Given the description of an element on the screen output the (x, y) to click on. 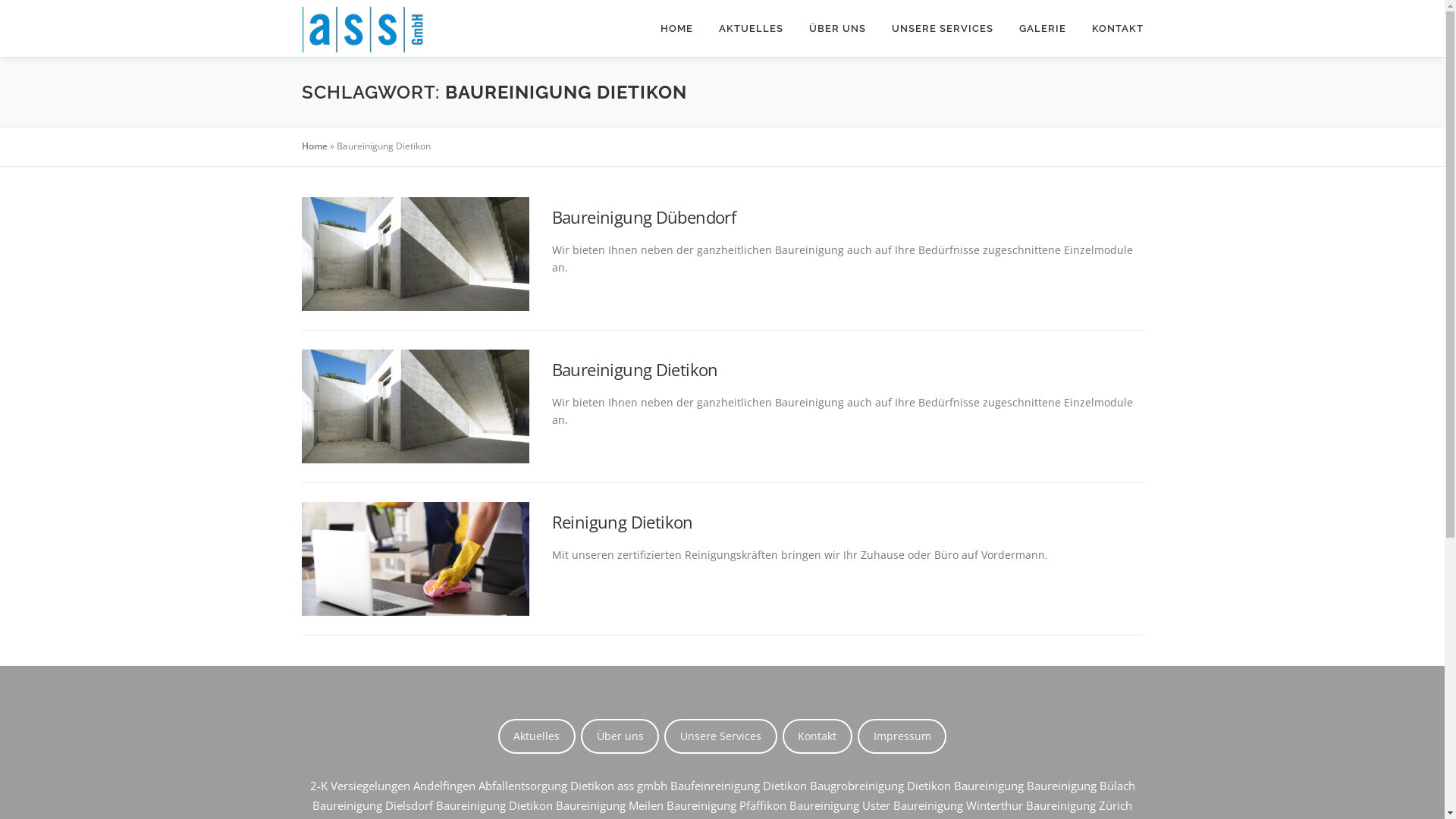
UNSERE SERVICES Element type: text (941, 28)
Reinigung Dietikon Element type: text (622, 521)
Baugrobreinigung Dietikon Element type: text (879, 785)
Baureinigung Element type: text (988, 785)
Kontakt Element type: text (817, 735)
ass gmbh Element type: text (642, 785)
Baureinigung Winterthur Element type: text (957, 804)
2-K Versiegelungen Andelfingen Element type: text (391, 785)
HOME Element type: text (676, 28)
Baufeinreinigung Dietikon Element type: text (738, 785)
Aktuelles Element type: text (536, 735)
Baureinigung Meilen Element type: text (609, 804)
KONTAKT Element type: text (1110, 28)
Home Element type: text (314, 145)
GALERIE Element type: text (1041, 28)
Abfallentsorgung Dietikon Element type: text (545, 785)
AKTUELLES Element type: text (750, 28)
Unsere Services Element type: text (720, 735)
Baureinigung Uster Element type: text (839, 804)
Baureinigung Dietikon Element type: text (494, 804)
Baureinigung Dielsdorf Element type: text (372, 804)
Baureinigung Dietikon Element type: text (635, 368)
Impressum Element type: text (901, 735)
